Given the description of an element on the screen output the (x, y) to click on. 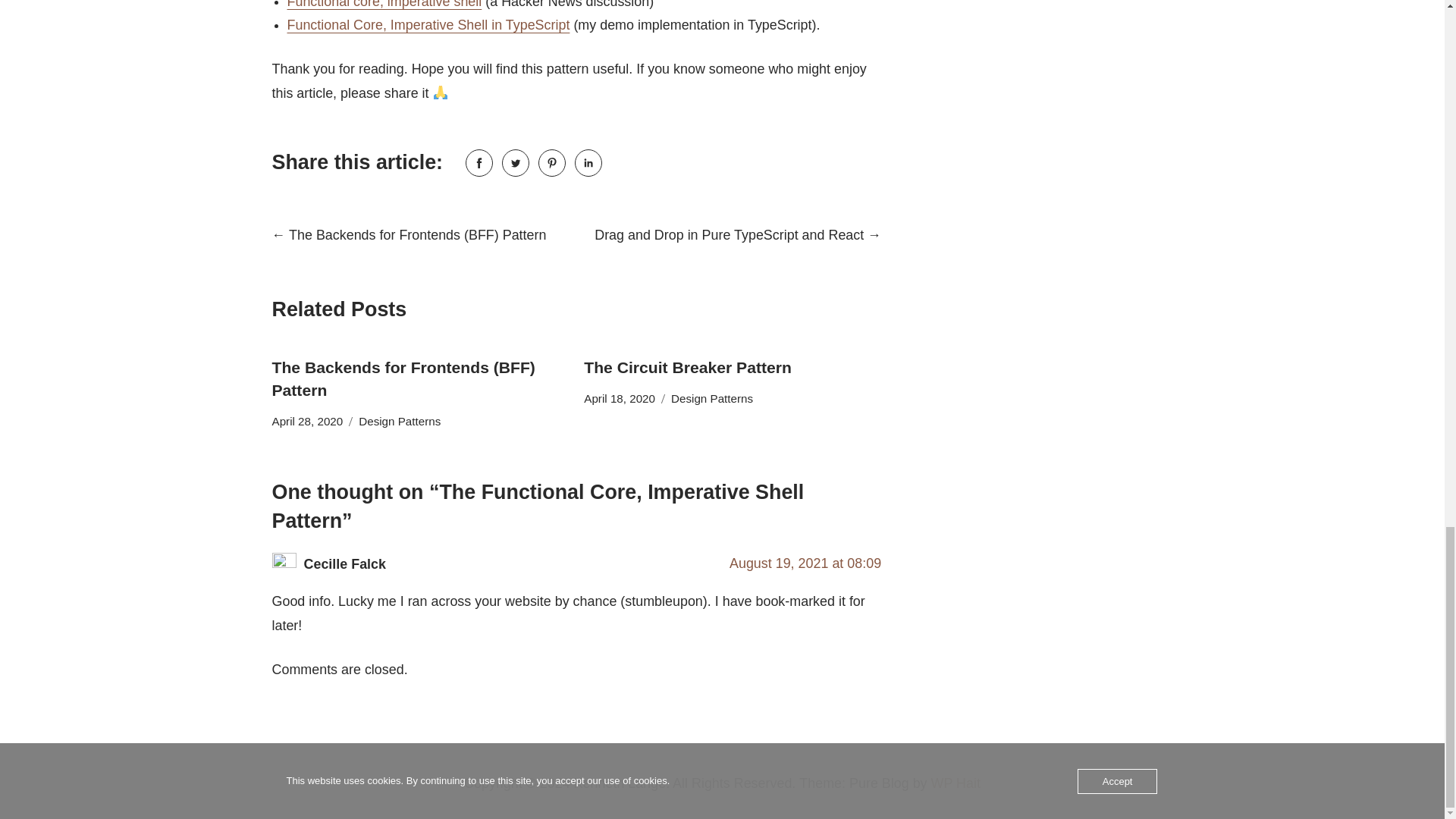
April 28, 2020 (306, 421)
Functional Core, Imperative Shell in TypeScript (427, 24)
The Circuit Breaker Pattern (687, 366)
Functional core, imperative shell (383, 4)
Design Patterns (399, 421)
April 18, 2020 (619, 399)
August 19, 2021 at 08:09 (804, 563)
Design Patterns (711, 399)
